Given the description of an element on the screen output the (x, y) to click on. 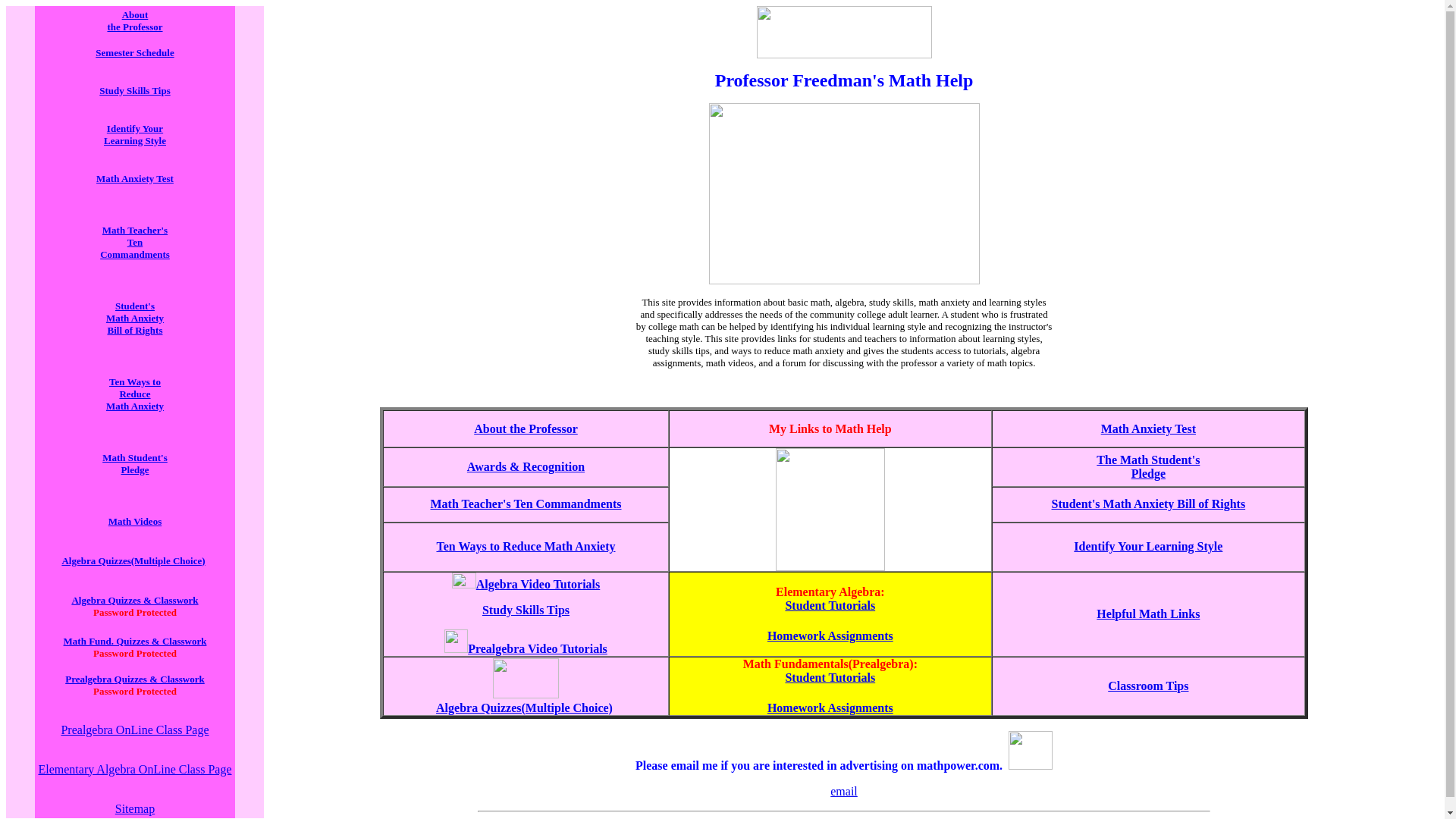
Study Skills Tips (525, 609)
Math Anxiety Test (134, 177)
Algebra Video Tutorials (525, 584)
About the Professor (526, 427)
Semester Schedule (134, 51)
Helpful Math Links (1147, 613)
Student's Math Anxiety Bill of Rights (1148, 503)
